Given the description of an element on the screen output the (x, y) to click on. 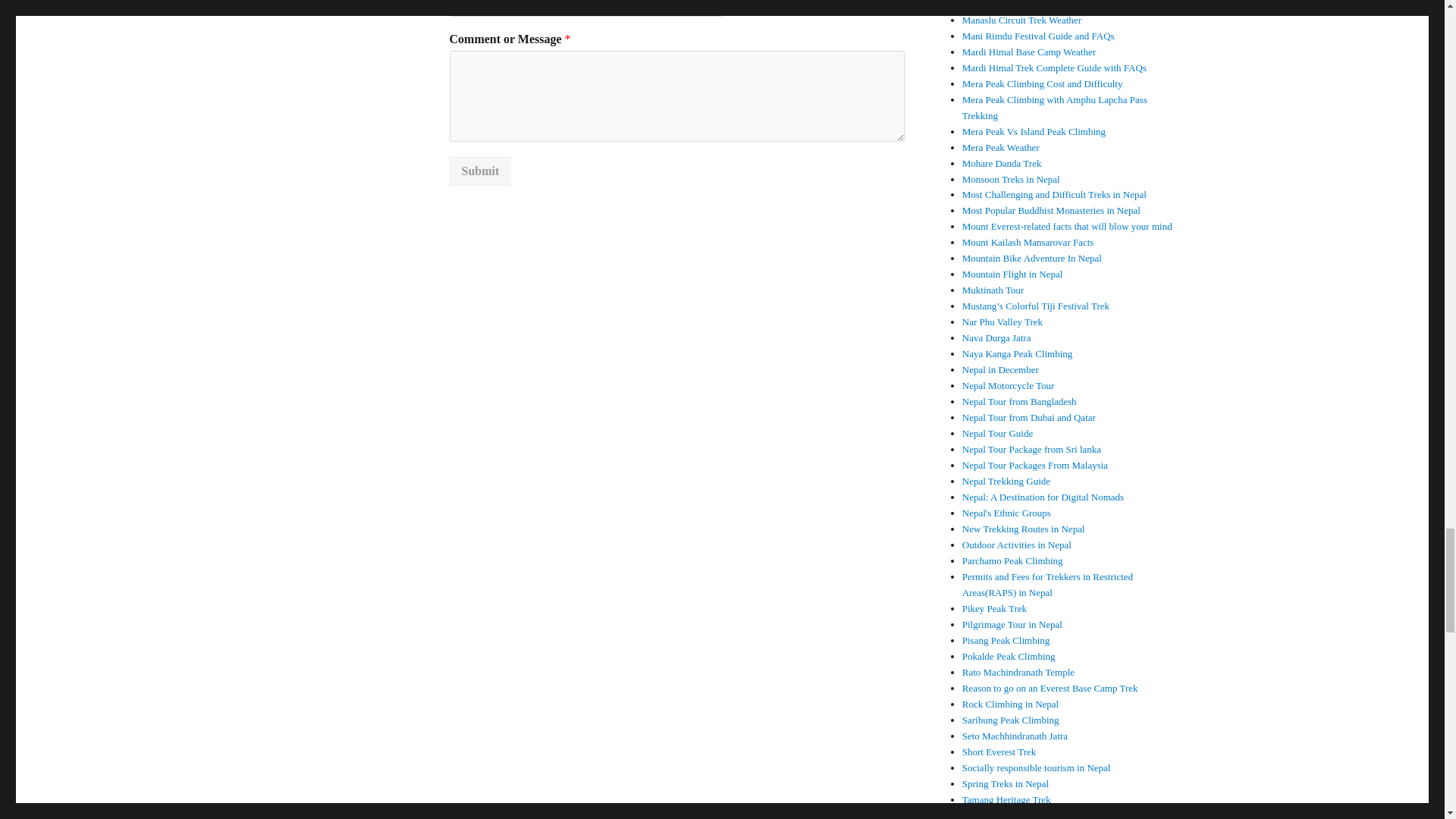
Submit (479, 171)
